Given the description of an element on the screen output the (x, y) to click on. 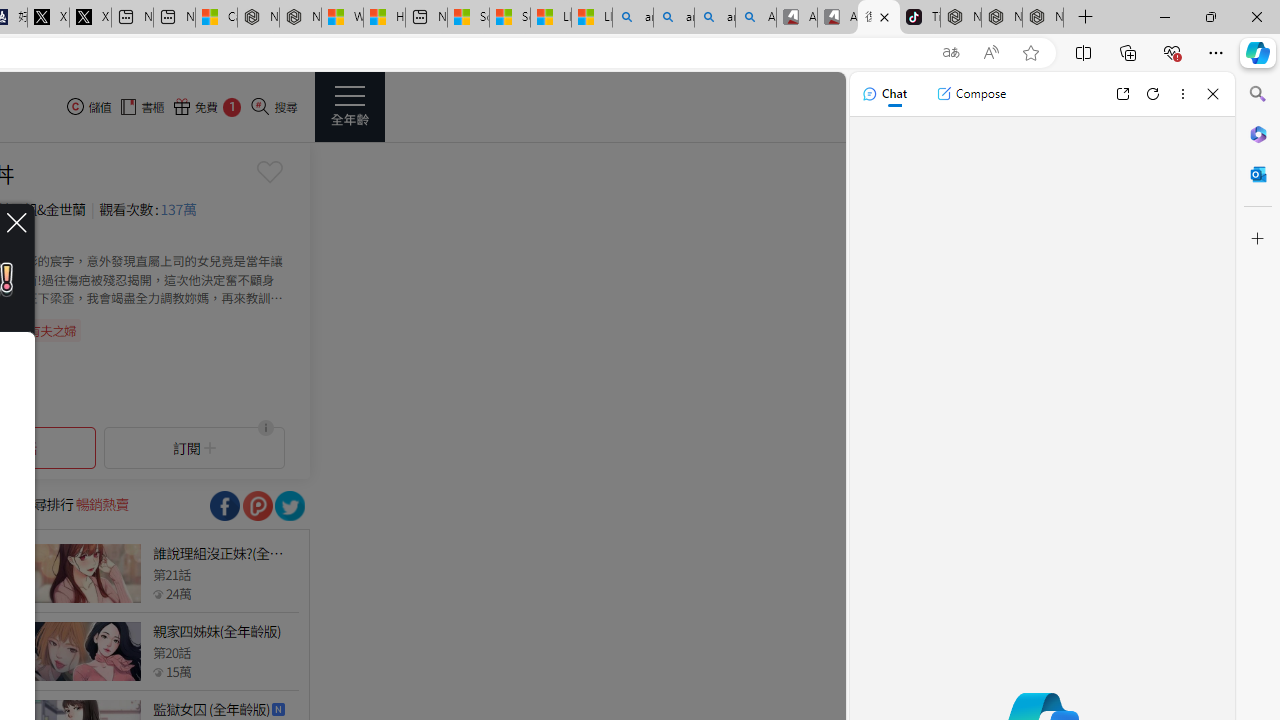
Class: thumb_img (85, 651)
Microsoft 365 (1258, 133)
amazon - Search Images (714, 17)
